Given the description of an element on the screen output the (x, y) to click on. 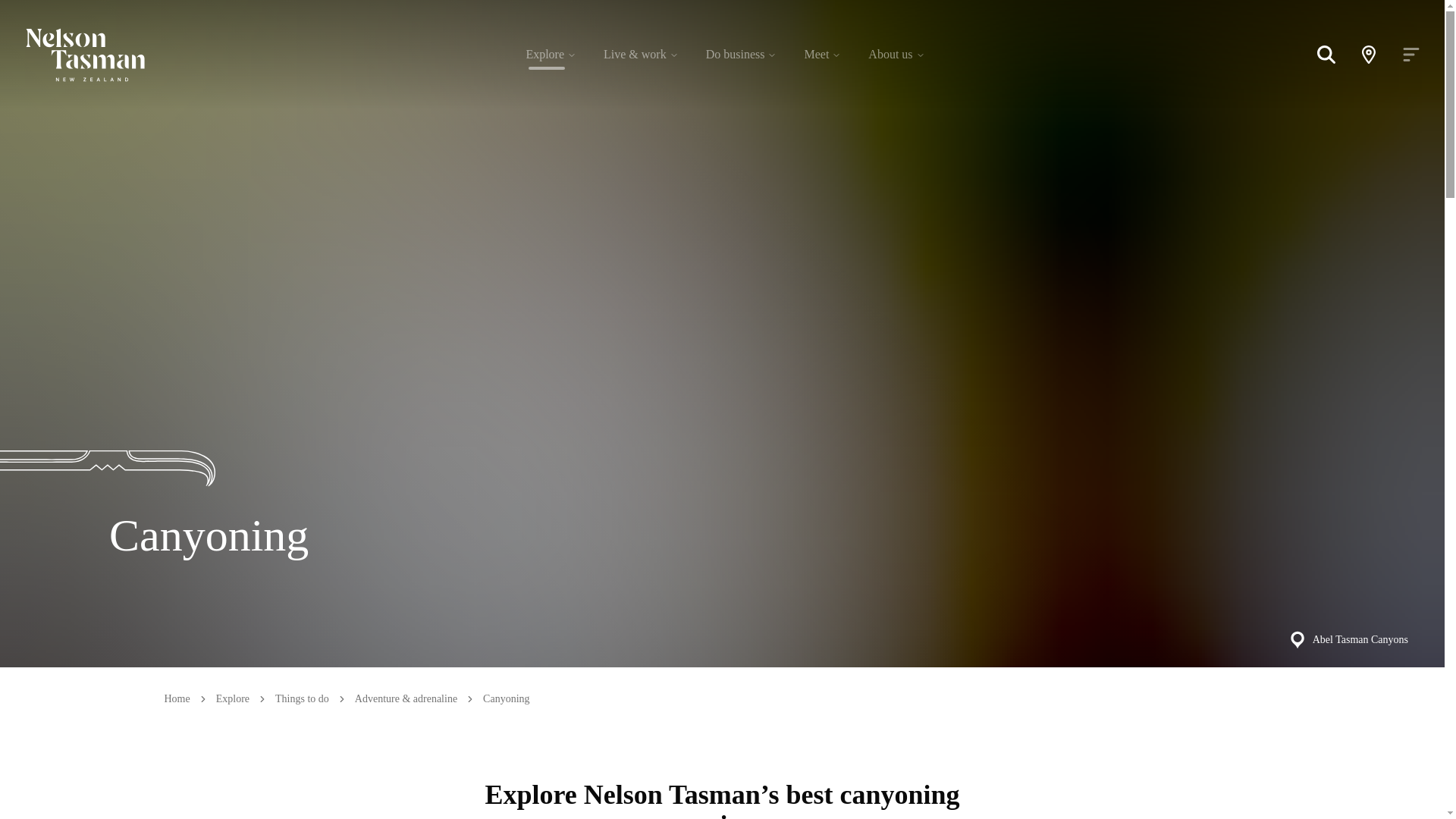
Explore (231, 698)
Things to do (302, 698)
Meet (822, 54)
Explore (550, 54)
Do business (735, 54)
About us (896, 54)
Do business (741, 54)
Explore (544, 54)
Canyoning (506, 698)
Home (176, 698)
